Given the description of an element on the screen output the (x, y) to click on. 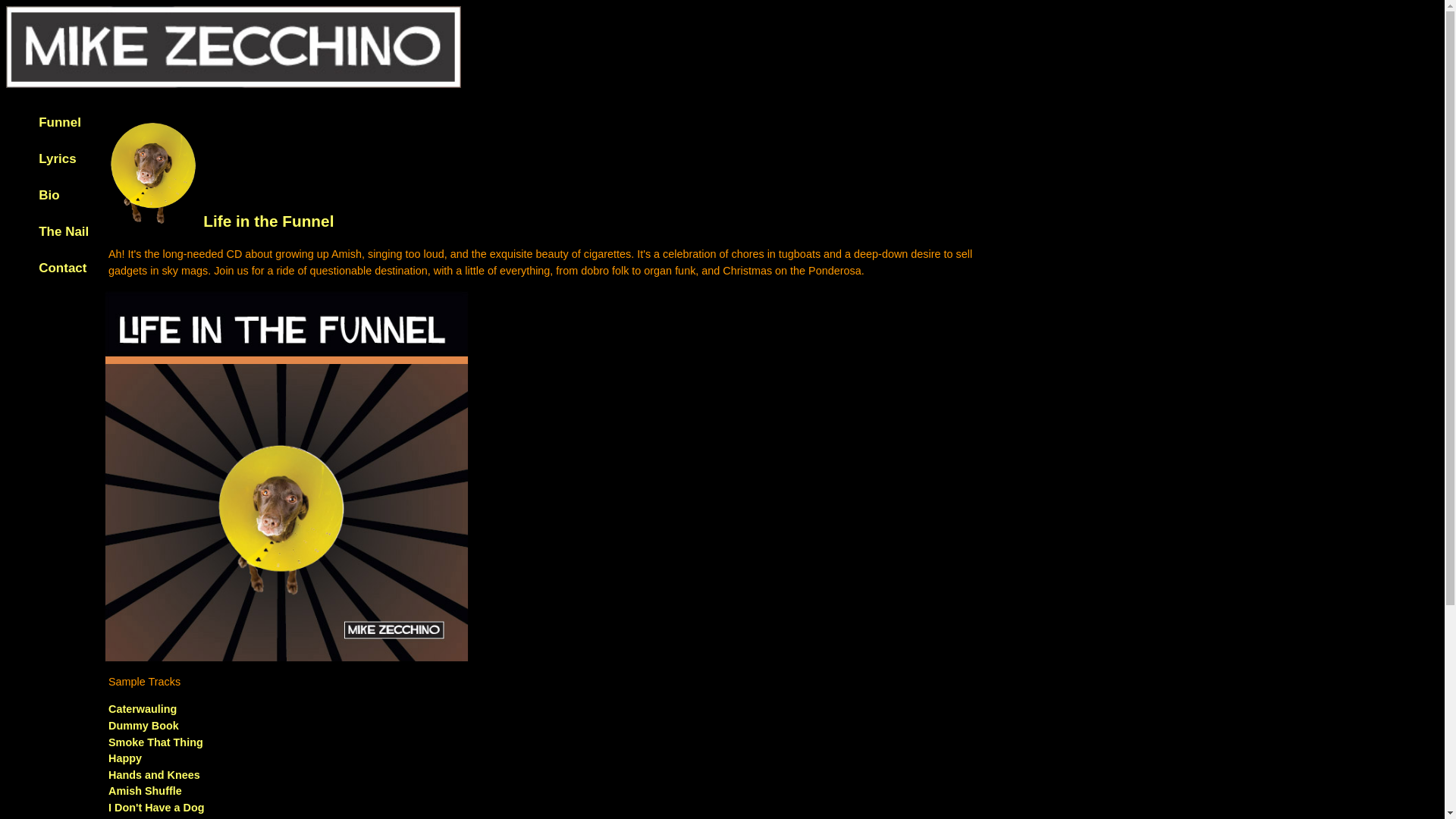
Contact (62, 268)
Dummy Book (143, 725)
Bio (49, 195)
Smoke That Thing (155, 742)
I Don't Have a Dog (156, 807)
Funnel (60, 122)
Happy (124, 758)
Lyrics (57, 158)
The Nail (63, 231)
